Given the description of an element on the screen output the (x, y) to click on. 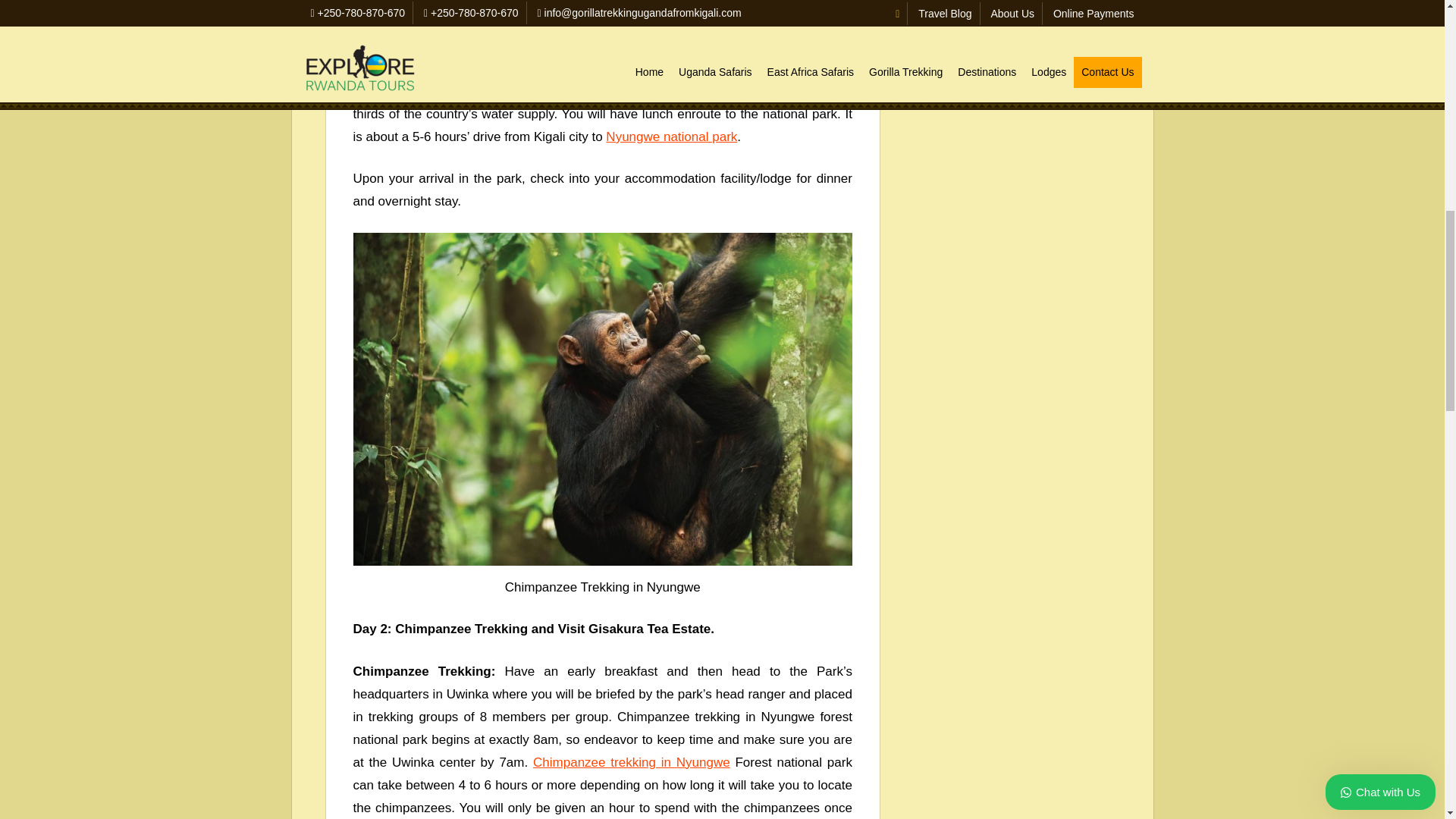
Chimpanzee trekking in Nyungwe (631, 762)
Nyungwe national park (670, 136)
Nyungwe Forest National Park (643, 3)
